Given the description of an element on the screen output the (x, y) to click on. 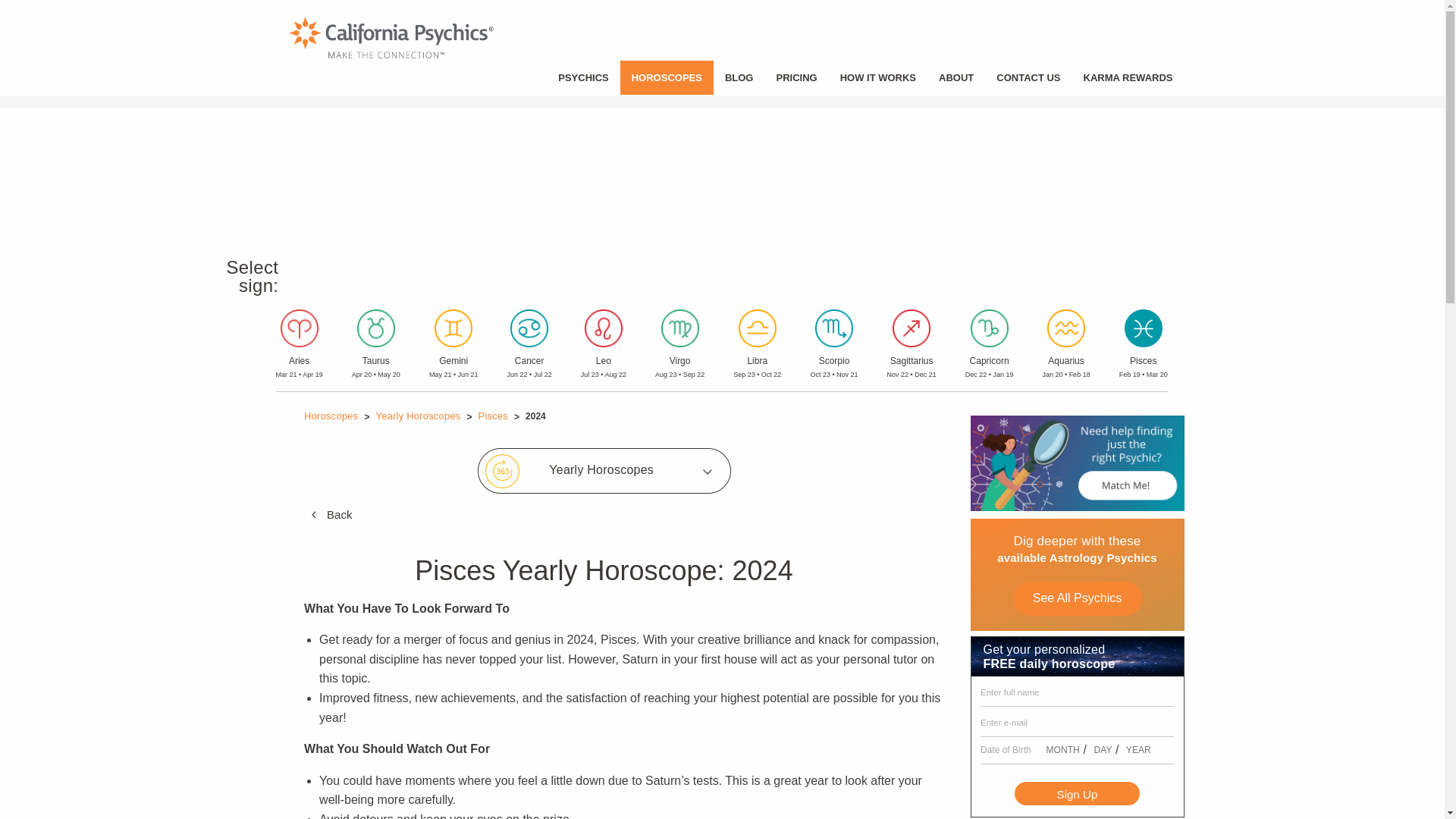
Horoscopes (331, 415)
Pisces (493, 415)
Yearly Horoscopes (417, 415)
Sign Up (1077, 793)
